Given the description of an element on the screen output the (x, y) to click on. 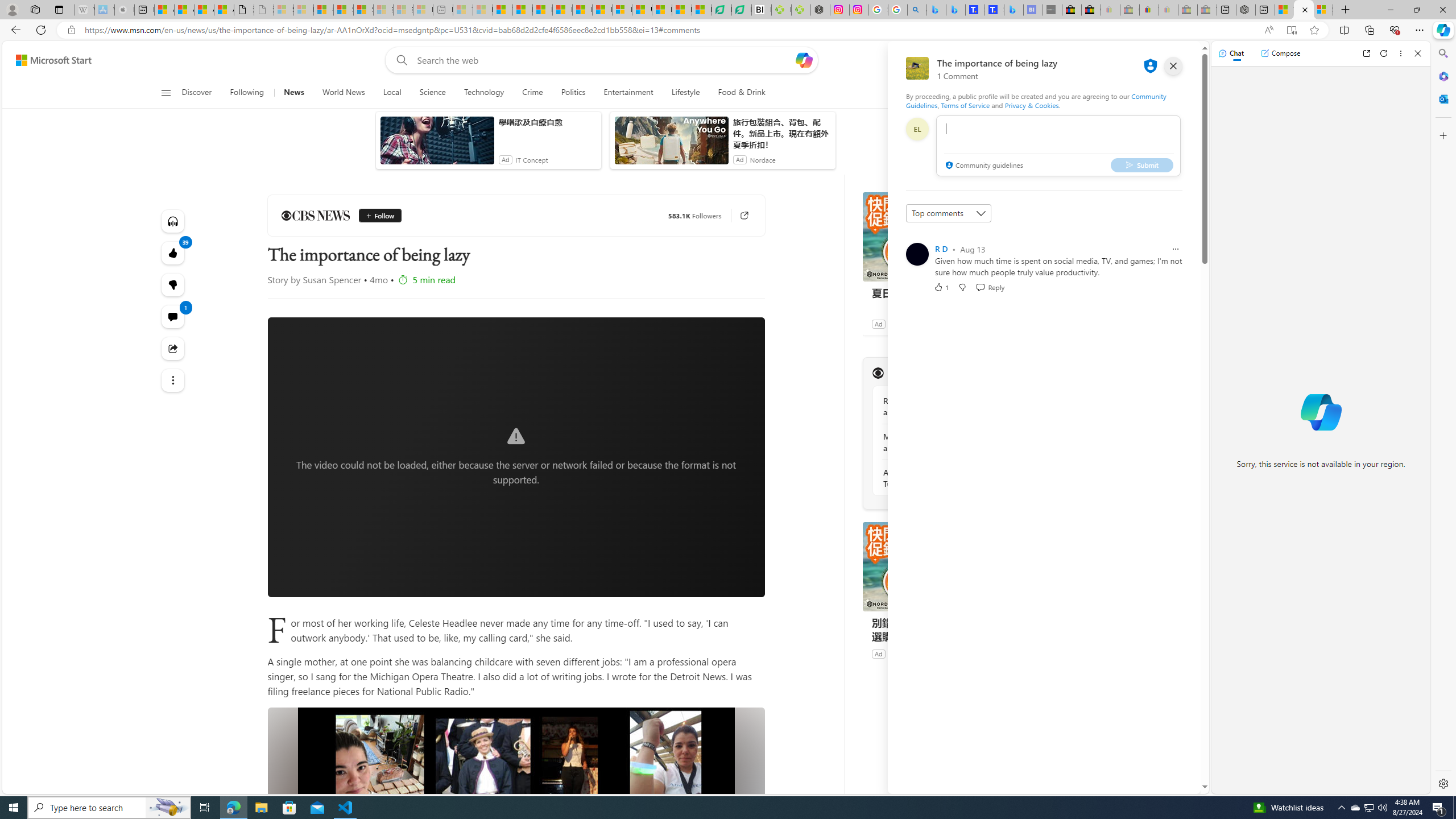
Aberdeen, Hong Kong SAR weather forecast | Microsoft Weather (183, 9)
Nvidia va a poner a prueba la paciencia de los inversores (761, 9)
Foo BAR | Trusted Community Engagement and Contributions (602, 9)
Payments Terms of Use | eBay.com - Sleeping (1168, 9)
Terms of Service (965, 104)
Microsoft account | Account Checkup - Sleeping (422, 9)
Share this story (172, 348)
LendingTree - Compare Lenders (741, 9)
